Given the description of an element on the screen output the (x, y) to click on. 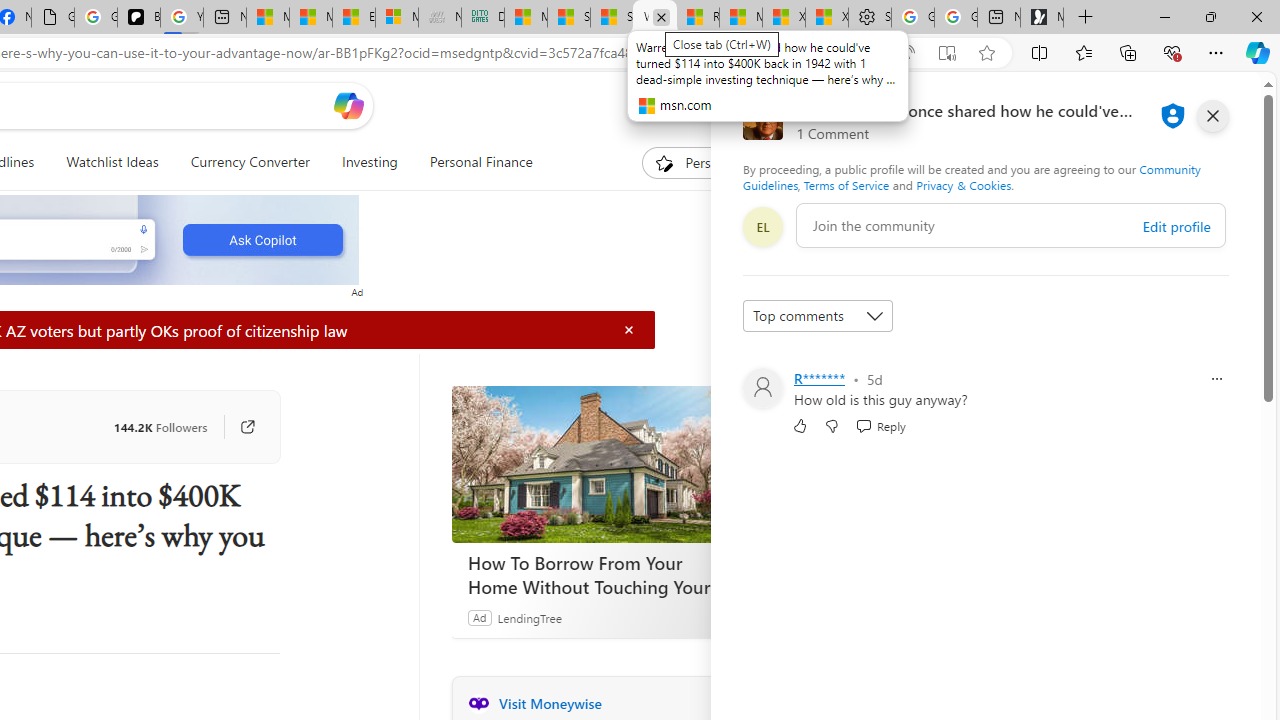
Currency Converter (249, 162)
Visit Moneywise website (726, 703)
